Given the description of an element on the screen output the (x, y) to click on. 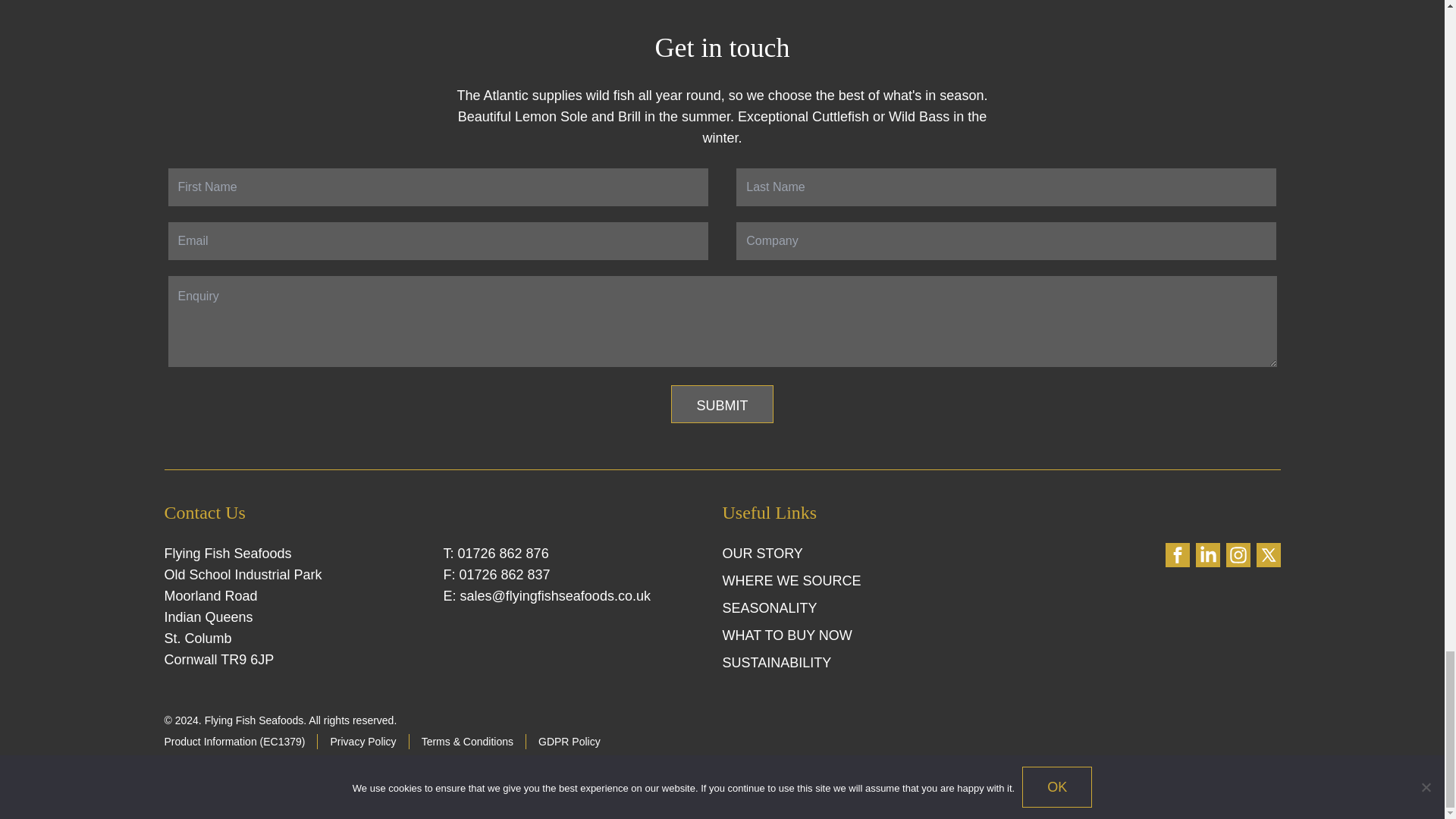
GDPR Policy (568, 741)
Privacy Policy (363, 741)
01726 862 837 (505, 574)
SEASONALITY (769, 607)
WHERE WE SOURCE (791, 580)
OUR STORY (762, 553)
01726 862 876 (503, 553)
SUSTAINABILITY (776, 662)
Submit (722, 403)
Submit (722, 403)
WHAT TO BUY NOW (786, 635)
